Given the description of an element on the screen output the (x, y) to click on. 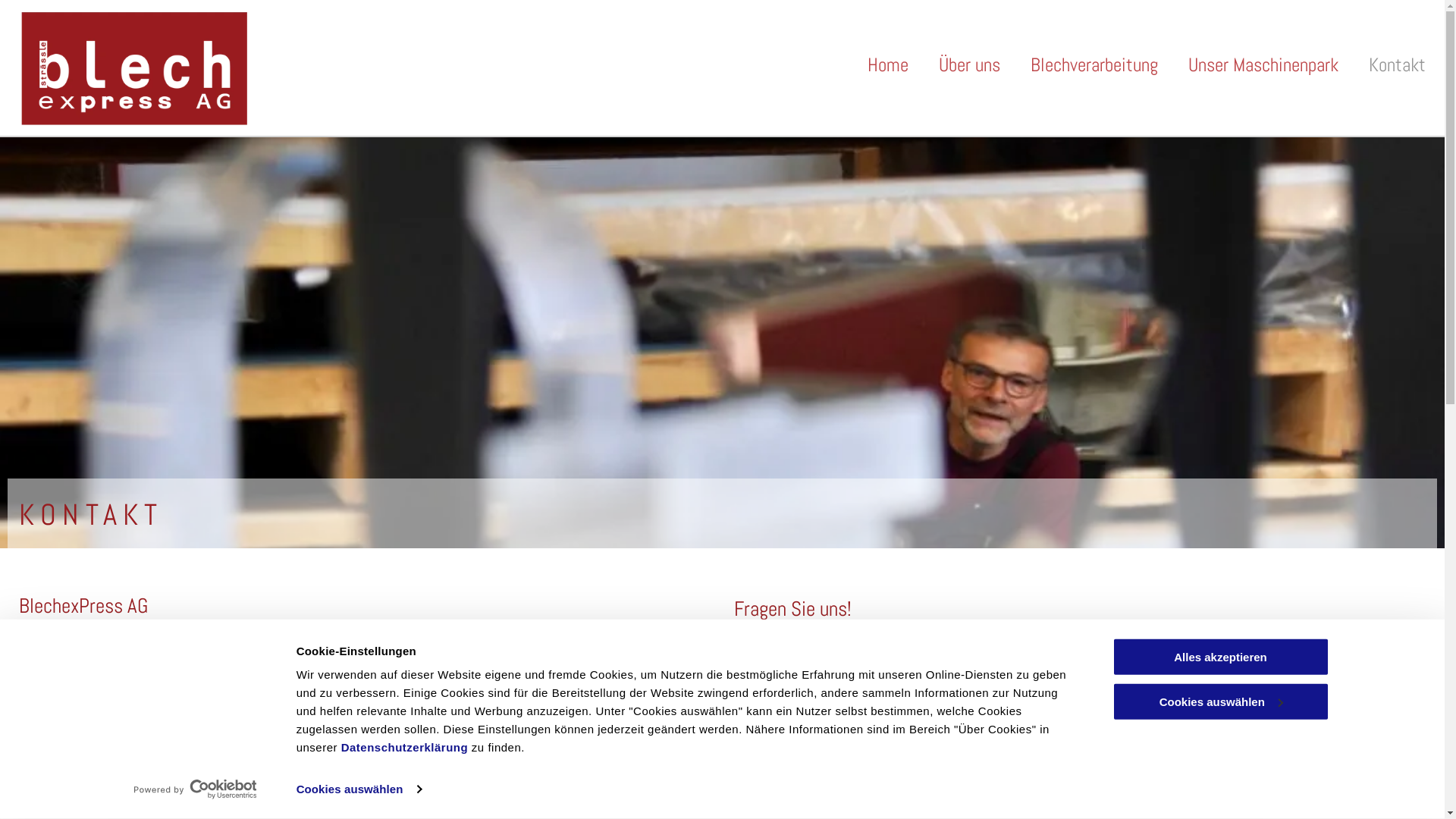
Alles akzeptieren Element type: text (1219, 656)
Unser Maschinenpark Element type: text (1263, 64)
Kontakt Element type: text (1396, 64)
061 712 20 60 Element type: text (118, 728)
Home Element type: text (887, 64)
Blechverarbeitung Element type: text (1093, 64)
info@blechexpress.ch Element type: text (136, 785)
